Given the description of an element on the screen output the (x, y) to click on. 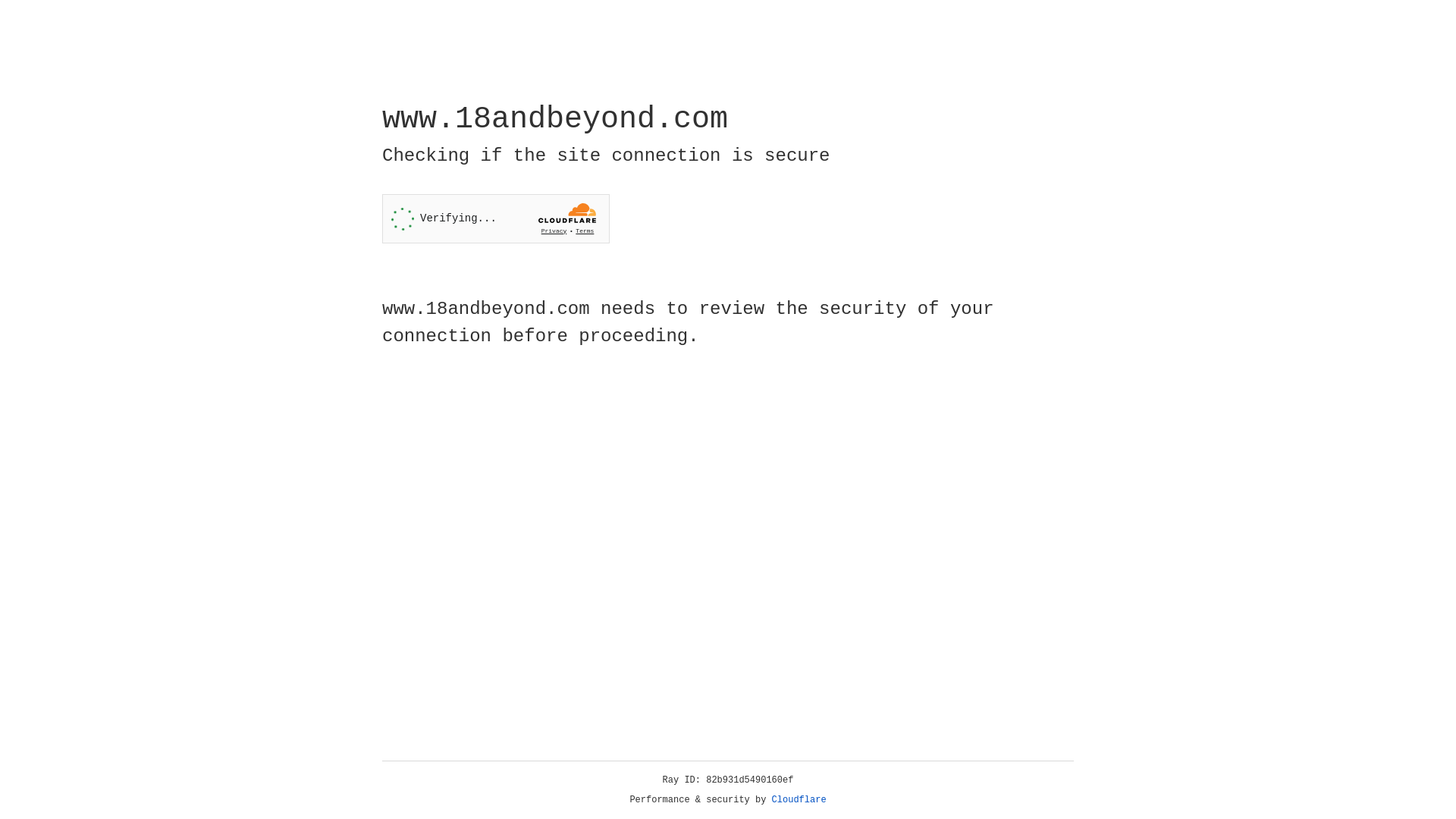
Cloudflare Element type: text (798, 799)
Widget containing a Cloudflare security challenge Element type: hover (495, 218)
